Given the description of an element on the screen output the (x, y) to click on. 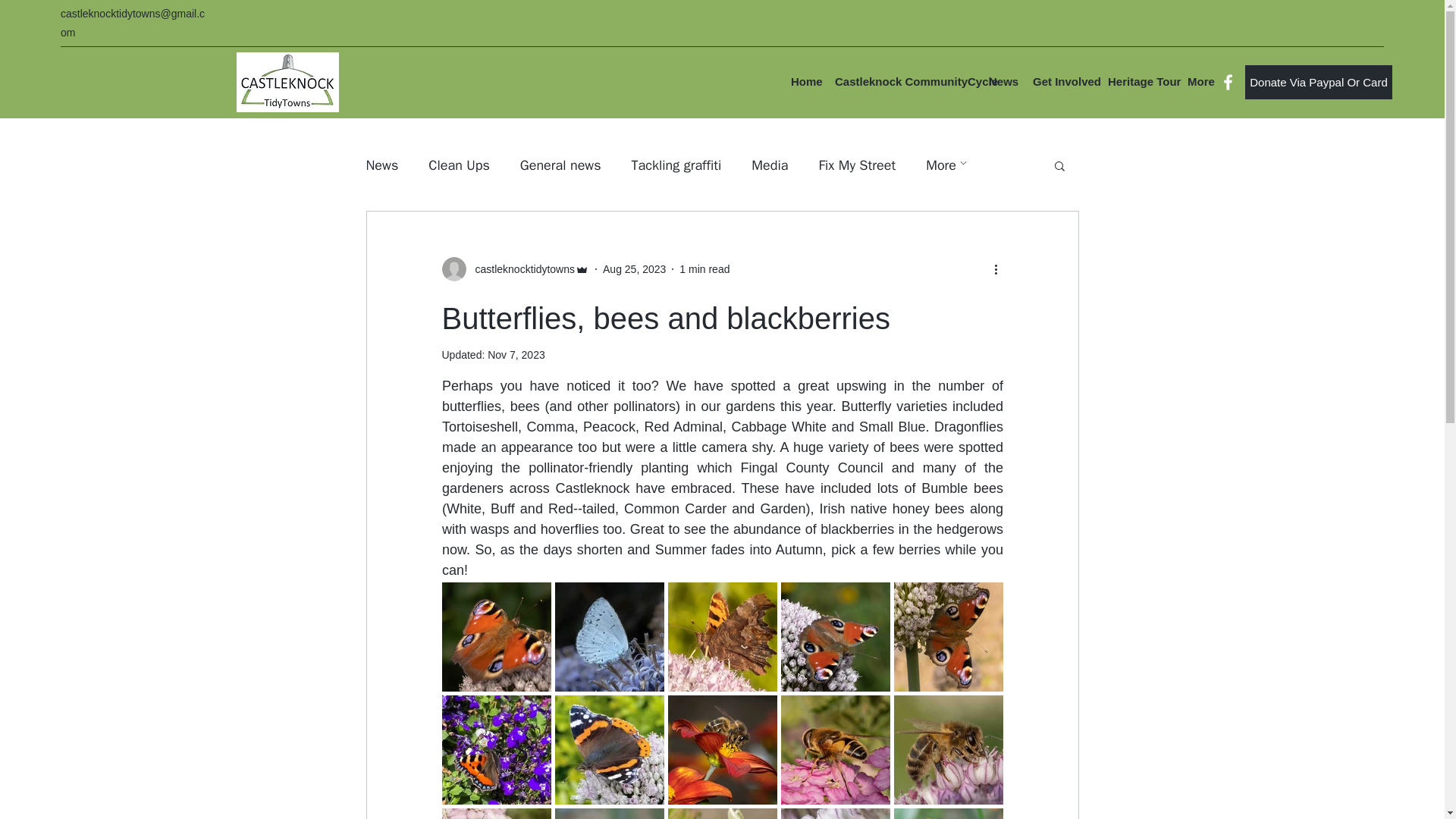
Media (769, 165)
News (1003, 81)
General news (560, 165)
Castleknock CommunityCycle (904, 81)
Nov 7, 2023 (515, 354)
Heritage Tour (1139, 81)
1 min read (704, 268)
Home (805, 81)
Donate Via Paypal Or Card (1317, 82)
Get Involved (1062, 81)
Clean Ups (458, 165)
Aug 25, 2023 (633, 268)
Fix My Street (856, 165)
News (381, 165)
castleknocktidytowns (520, 269)
